Given the description of an element on the screen output the (x, y) to click on. 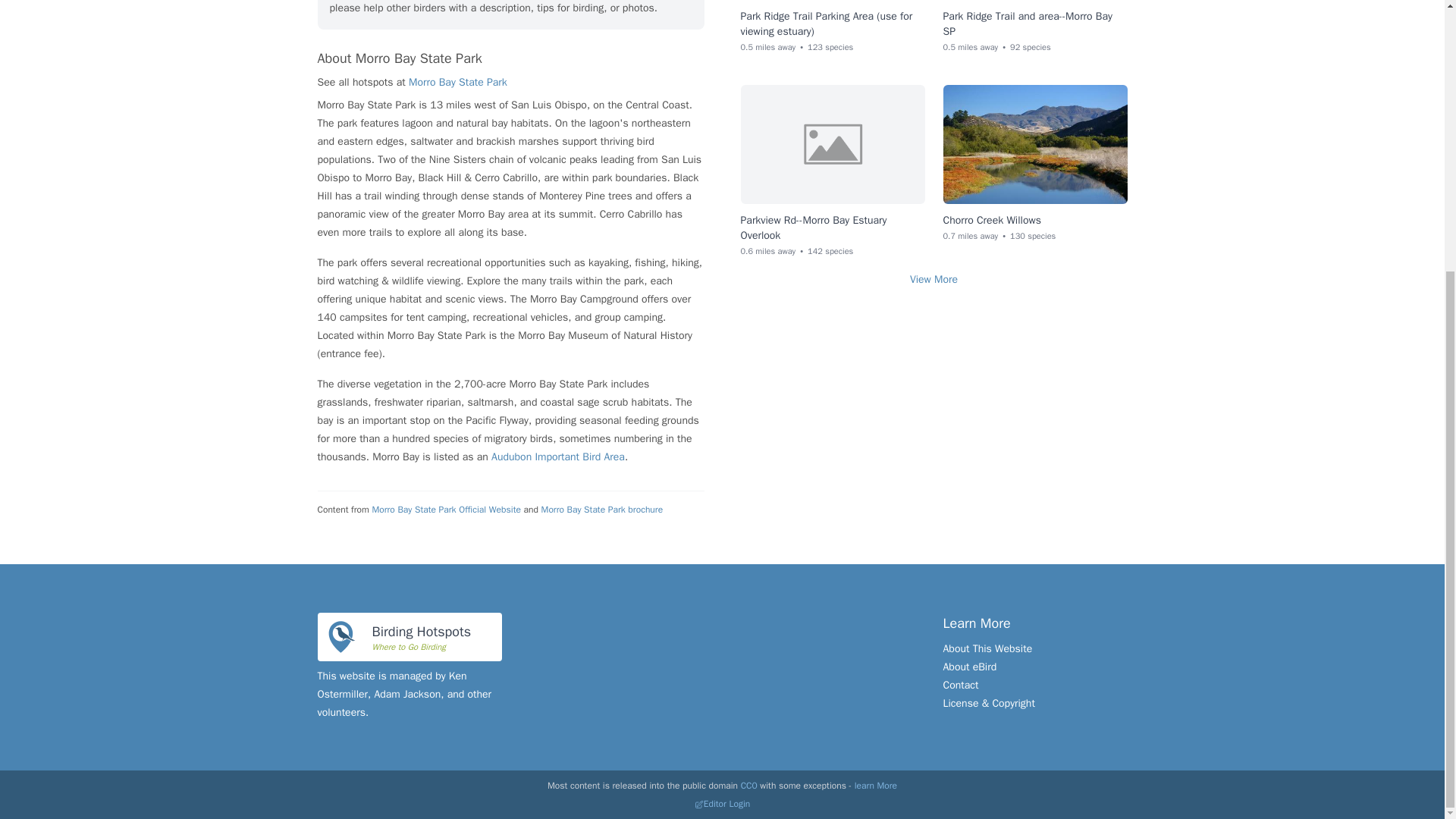
Park Ridge Trail and area--Morro Bay SP (1027, 23)
Morro Bay State Park (457, 82)
learn More (875, 785)
View More (934, 280)
Chorro Creek Willows (992, 219)
Editor Login (722, 803)
Parkview Rd--Morro Bay Estuary Overlook (408, 636)
About This Website (812, 227)
About eBird (987, 648)
